Given the description of an element on the screen output the (x, y) to click on. 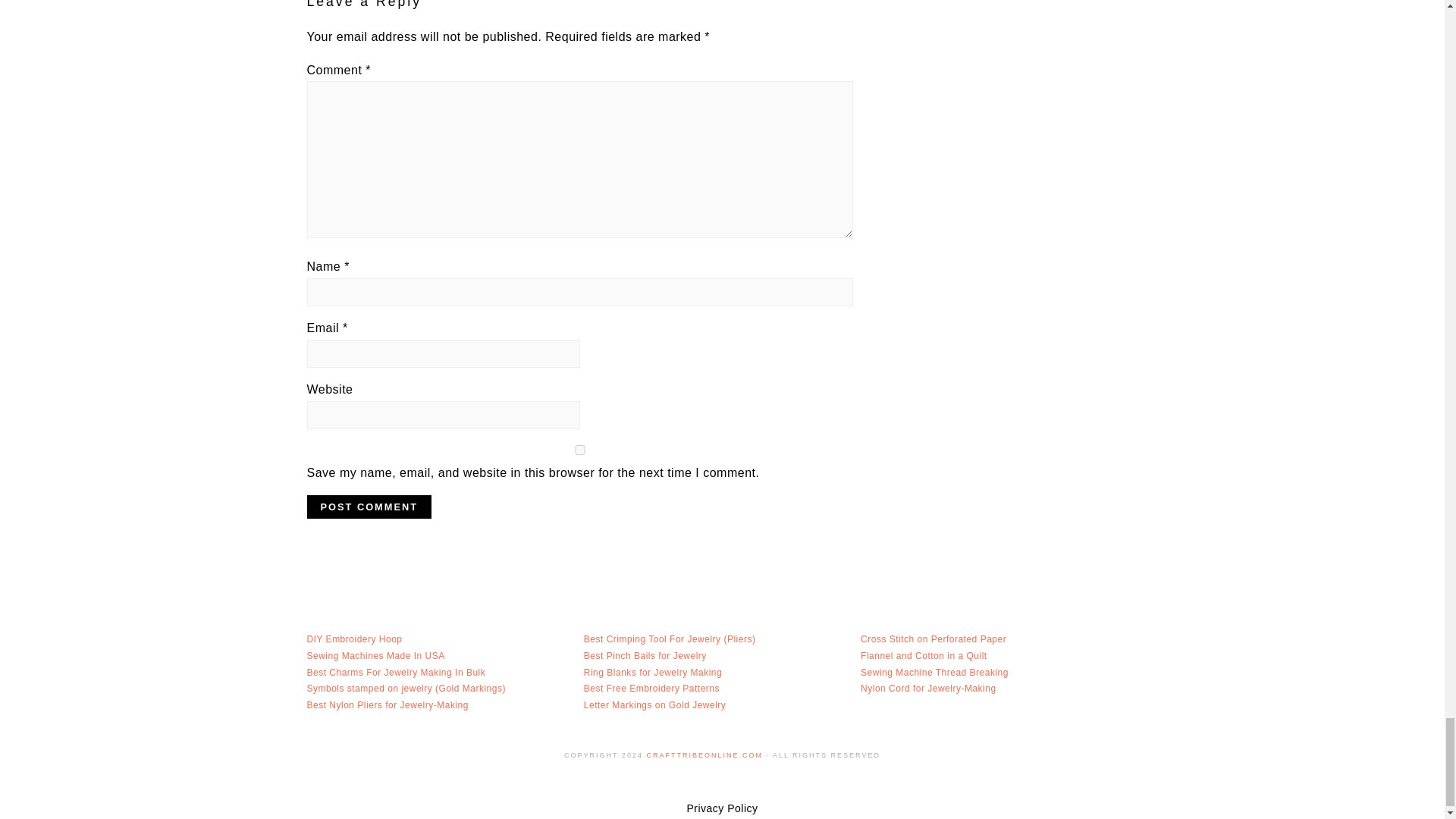
Post Comment (367, 506)
yes (578, 450)
Post Comment (367, 506)
